Given the description of an element on the screen output the (x, y) to click on. 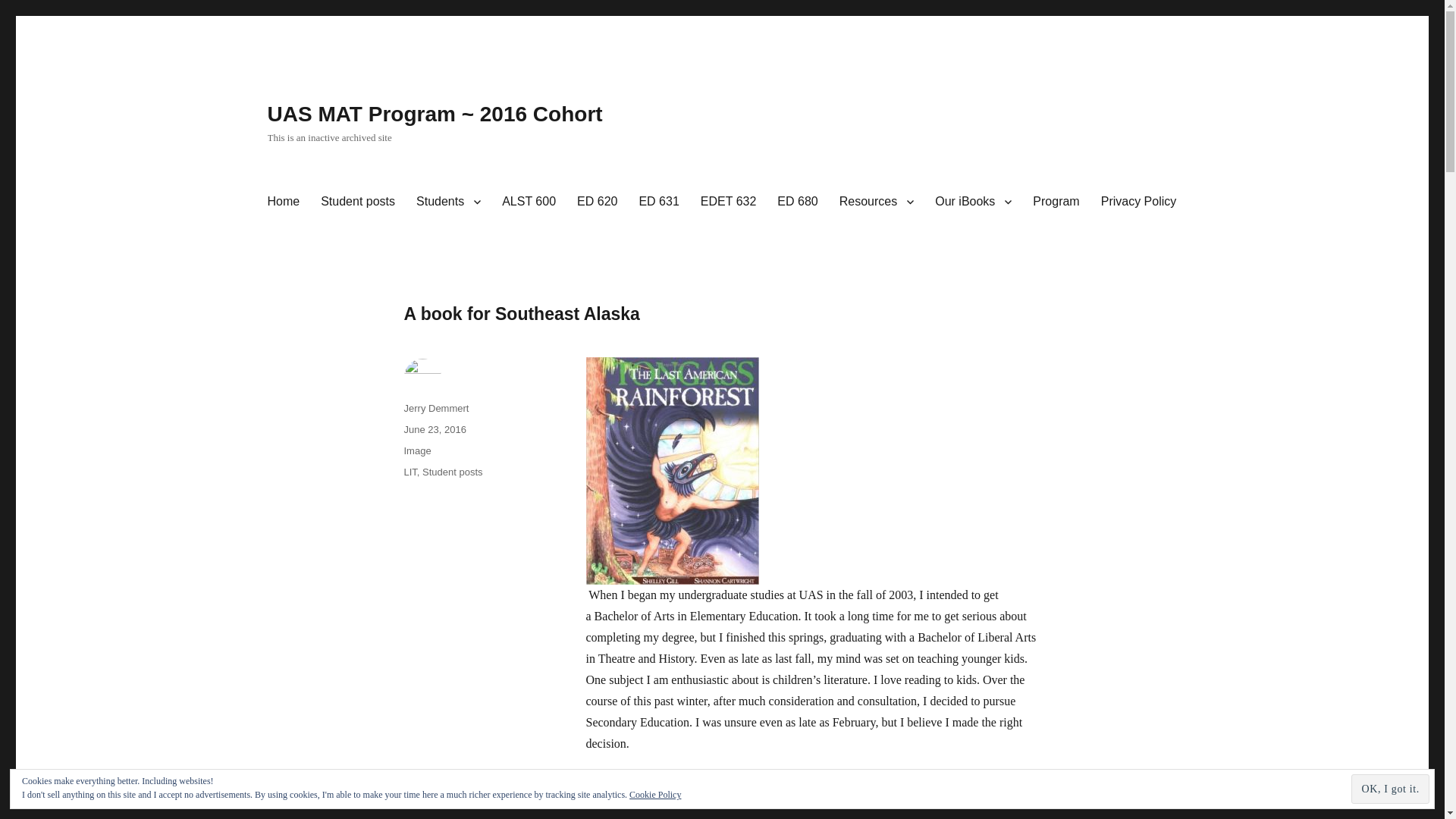
ED 680 (797, 201)
June 23, 2016 (434, 429)
ED 620 (596, 201)
Program (1055, 201)
Resources (876, 201)
Jerry Demmert (435, 408)
Home (283, 201)
Student posts (452, 471)
Student posts (358, 201)
OK, I got it. (1390, 788)
